Given the description of an element on the screen output the (x, y) to click on. 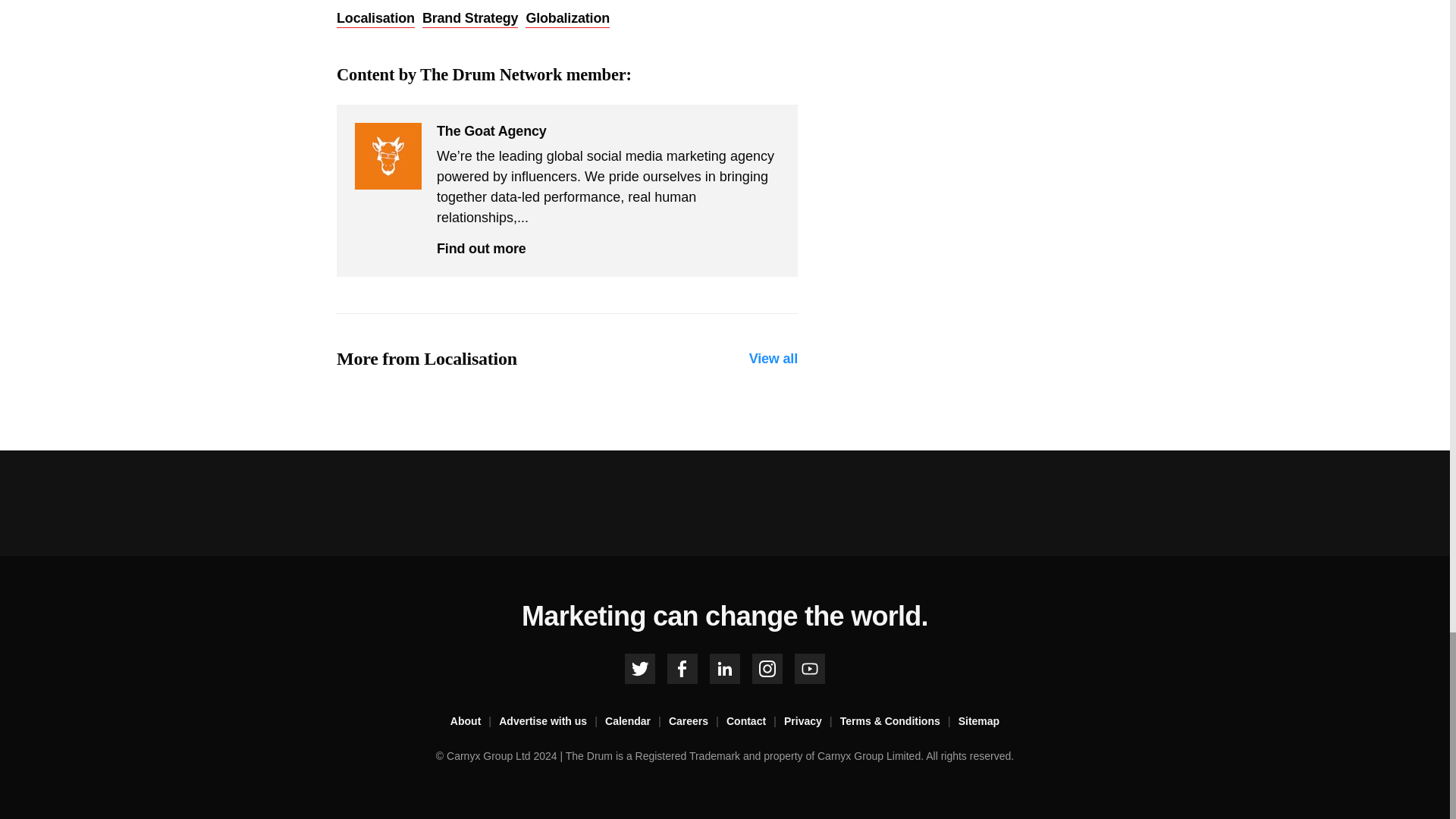
Localisation (375, 18)
Find out more (480, 248)
Brand Strategy (470, 18)
Globalization (567, 18)
View all (773, 358)
About (474, 721)
